Given the description of an element on the screen output the (x, y) to click on. 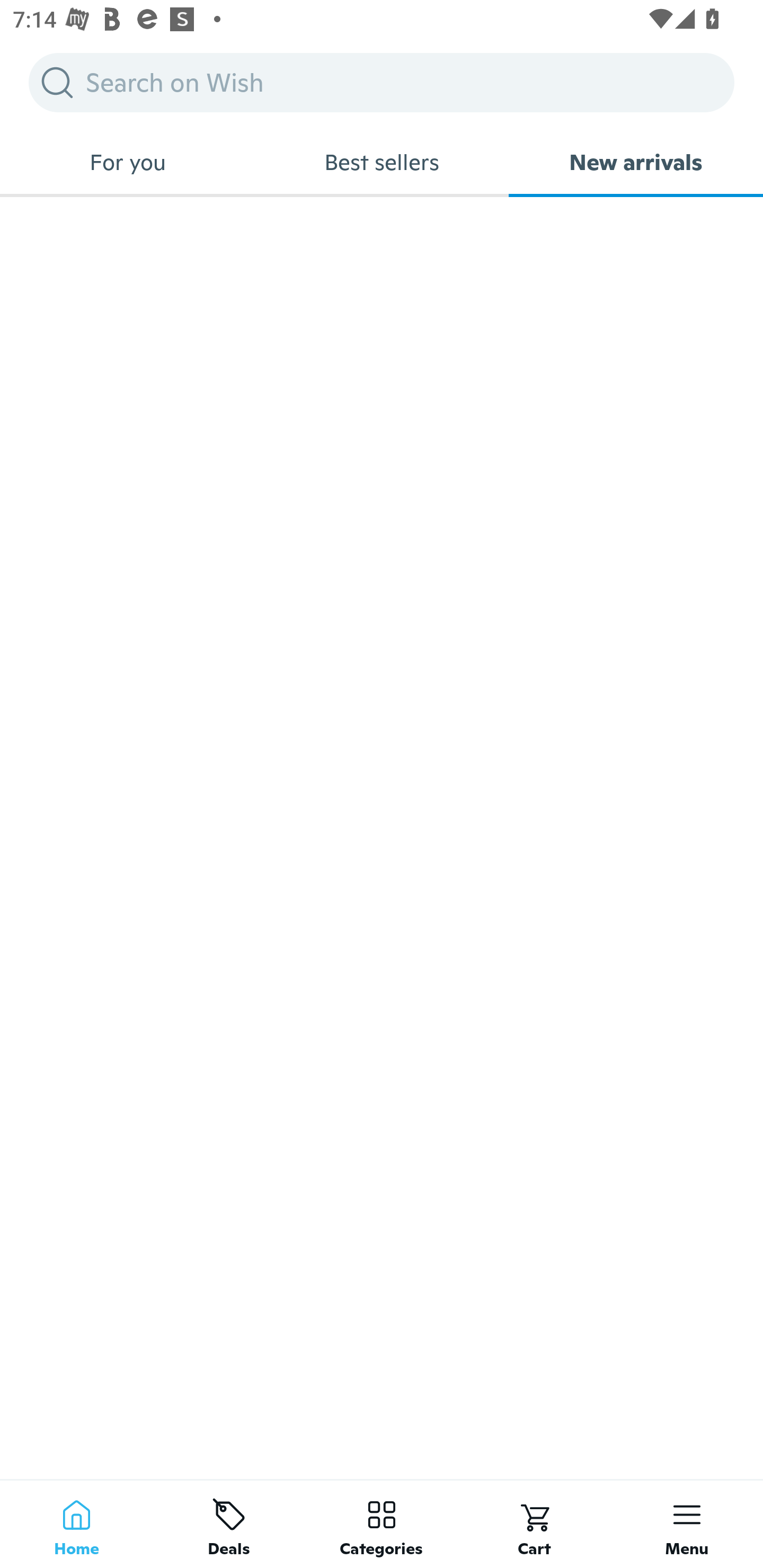
Search on Wish (381, 82)
For you (127, 161)
Best sellers (381, 161)
New arrivals (635, 161)
Home (76, 1523)
Deals (228, 1523)
Categories (381, 1523)
Cart (533, 1523)
Menu (686, 1523)
